Given the description of an element on the screen output the (x, y) to click on. 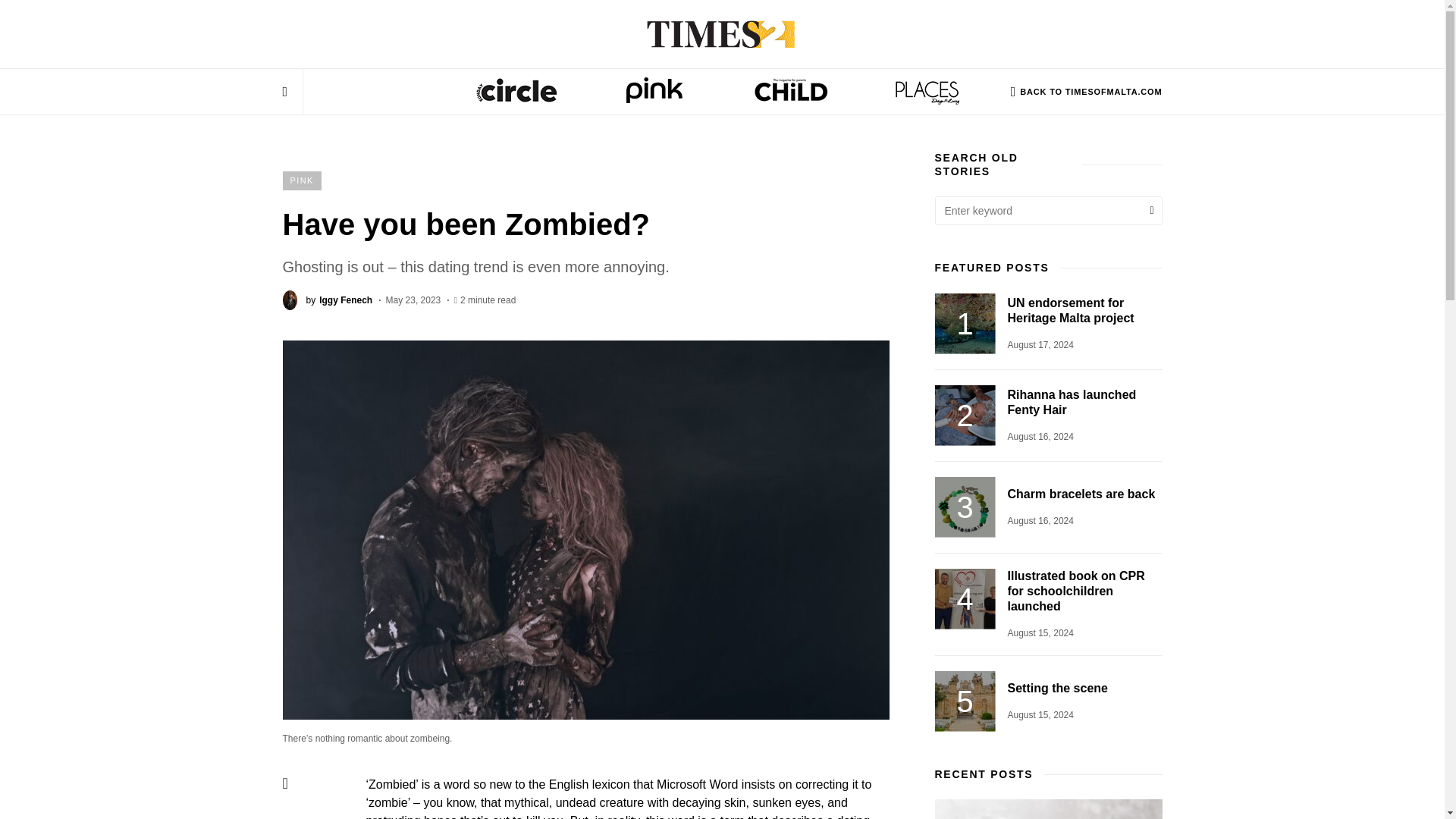
View all posts by Iggy Fenech (327, 299)
PINK (301, 180)
SUNDAY CIRCLE (517, 97)
BACK TO TIMESOFMALTA.COM (1085, 91)
CHILD (789, 97)
PINK (653, 97)
PLACES (327, 299)
